Given the description of an element on the screen output the (x, y) to click on. 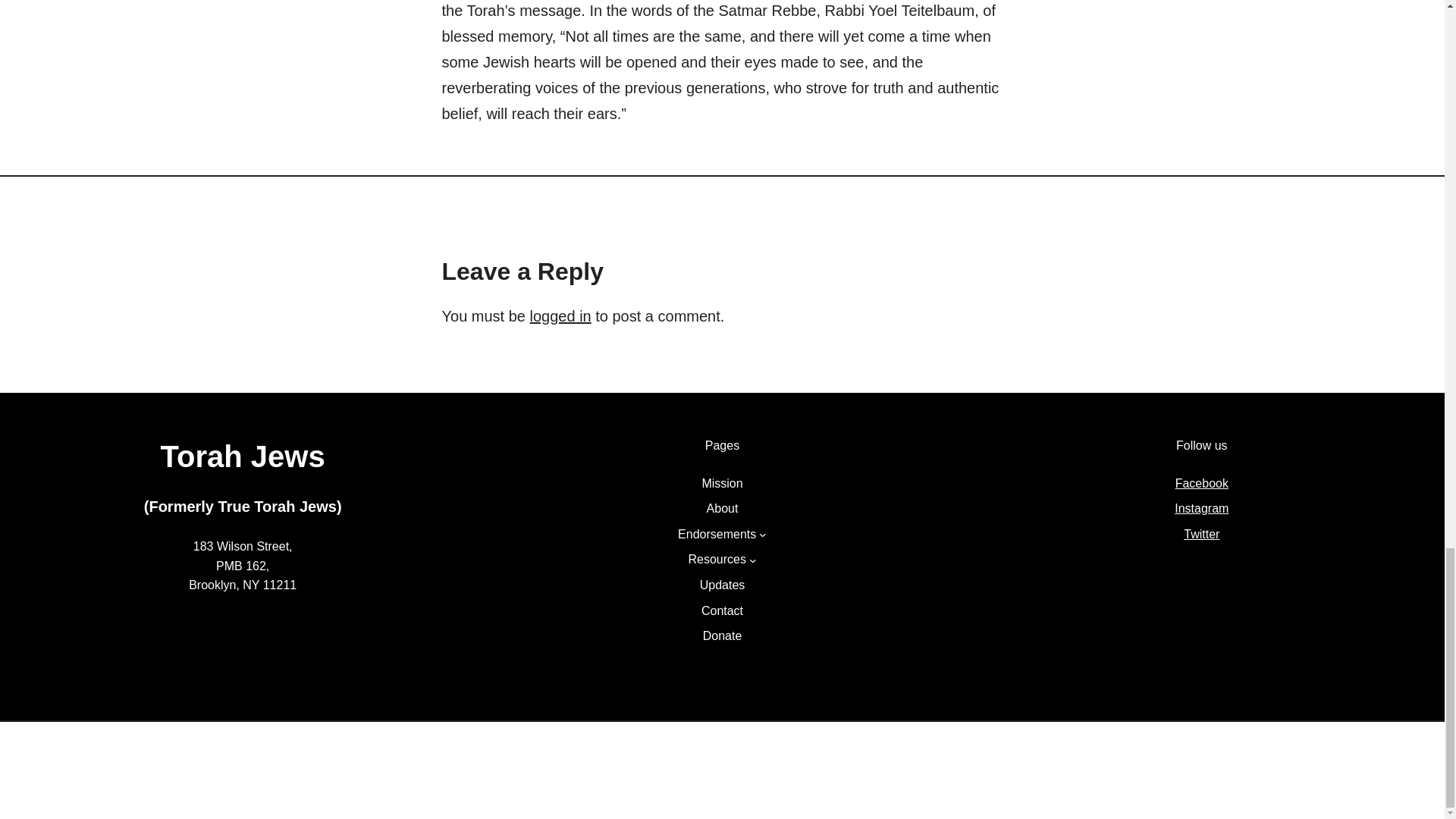
Donate (722, 636)
Twitter (1201, 533)
Updates (722, 585)
About (722, 508)
logged in (560, 315)
Facebook (1201, 482)
Endorsements (716, 534)
Resources (716, 559)
Mission (721, 483)
Instagram (1201, 508)
